Given the description of an element on the screen output the (x, y) to click on. 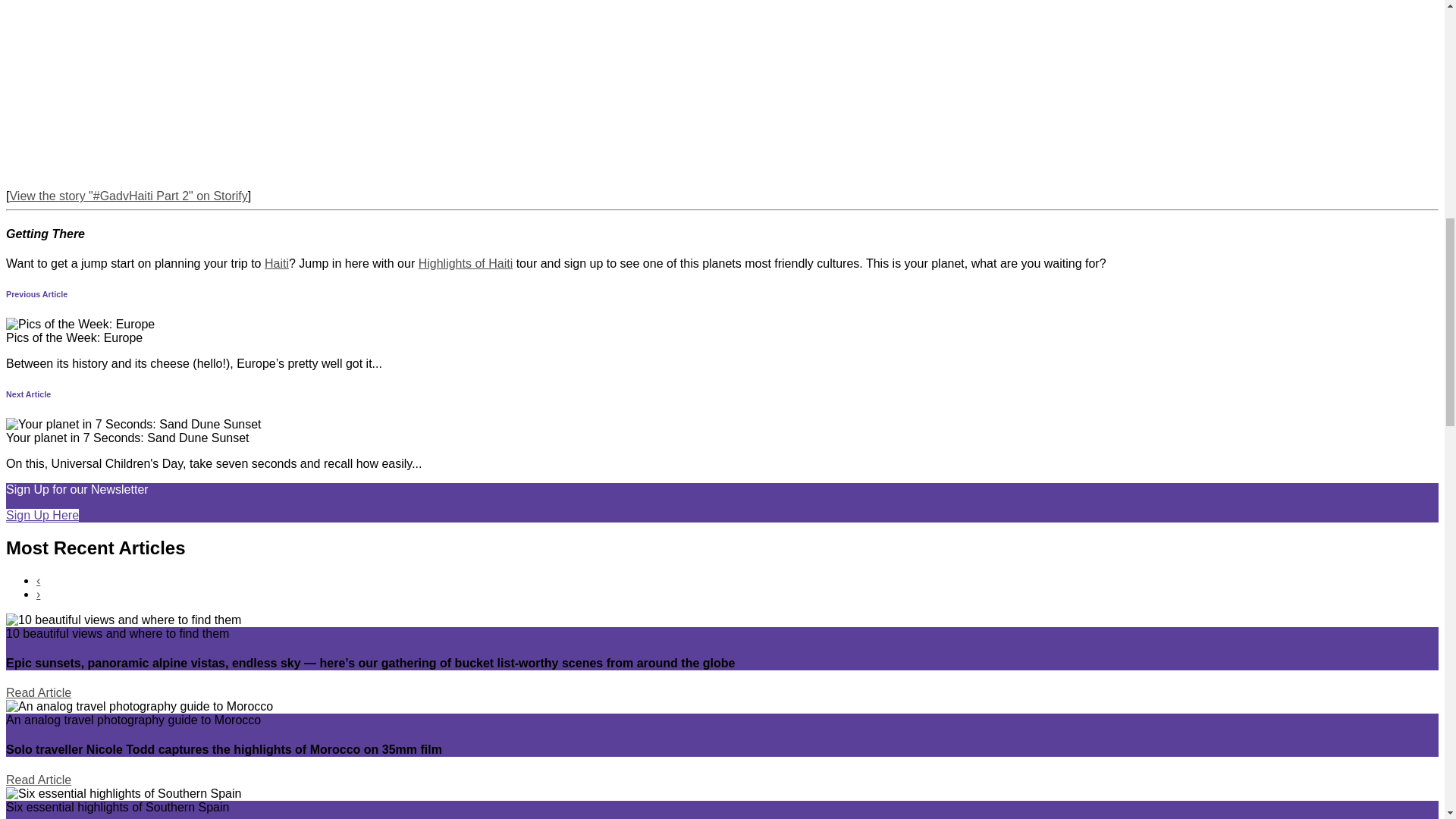
Haiti (276, 263)
Read Article (38, 779)
Read Article (38, 692)
Sign Up Here (41, 514)
Highlights of Haiti (466, 263)
